Given the description of an element on the screen output the (x, y) to click on. 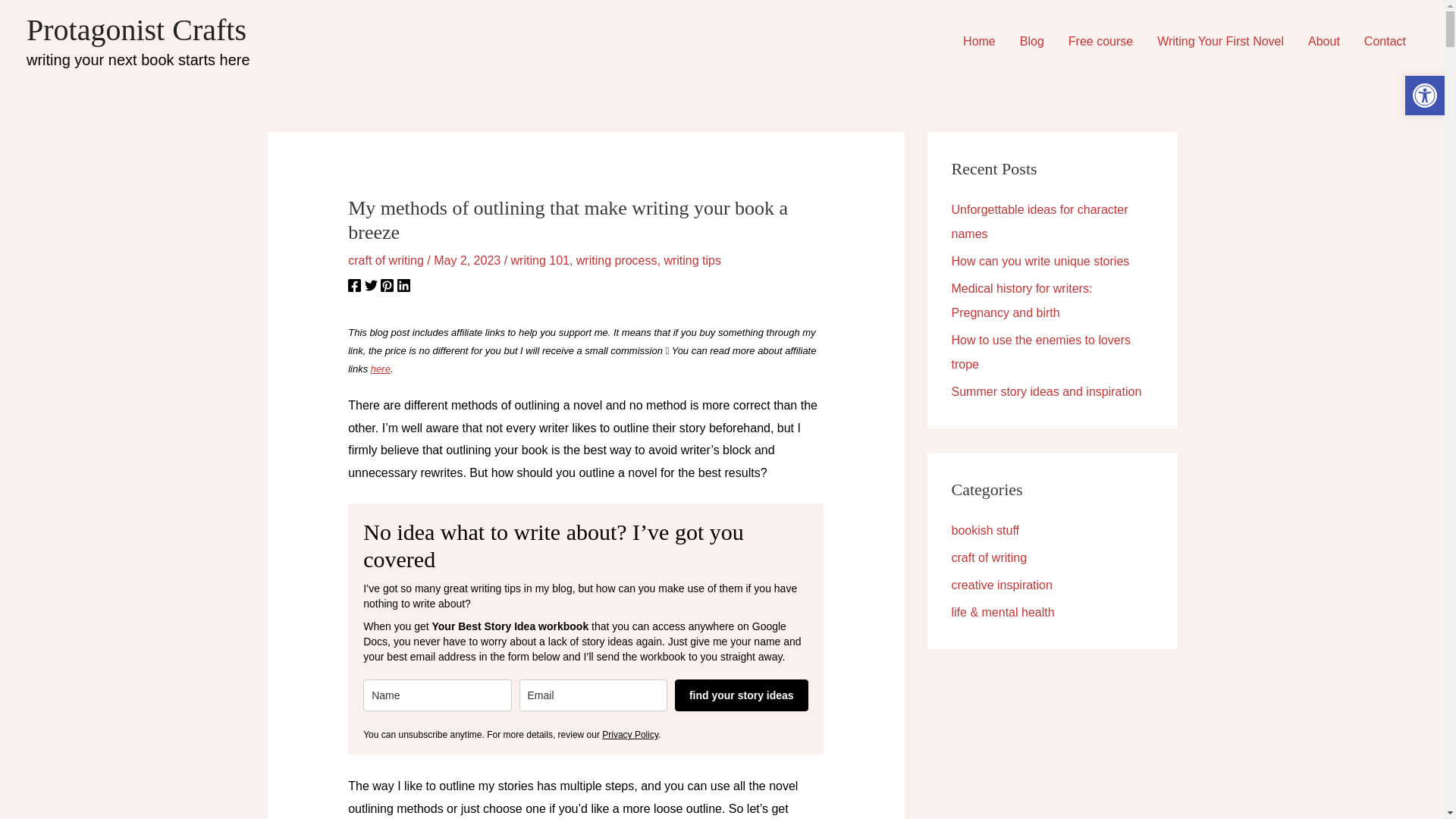
Accessibility Tools (1424, 95)
writing 101 (540, 259)
Contact (1385, 41)
find your story ideas (741, 695)
writing process (617, 259)
Writing Your First Novel (1219, 41)
Blog (1032, 41)
craft of writing (385, 259)
here (380, 368)
Privacy Policy (630, 734)
Protagonist Crafts (136, 29)
Home (978, 41)
Free course (1100, 41)
writing tips (691, 259)
About (1323, 41)
